Given the description of an element on the screen output the (x, y) to click on. 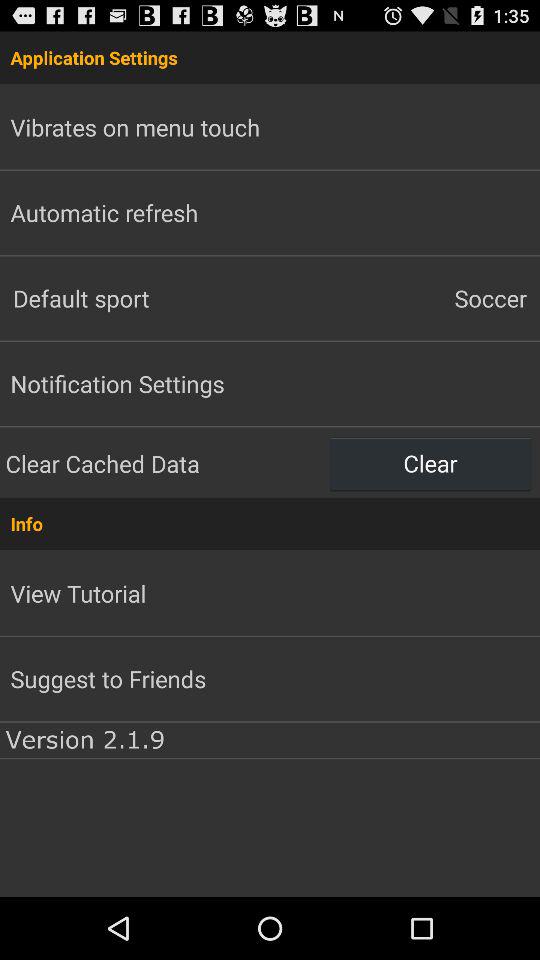
choose app at the top (270, 57)
